Given the description of an element on the screen output the (x, y) to click on. 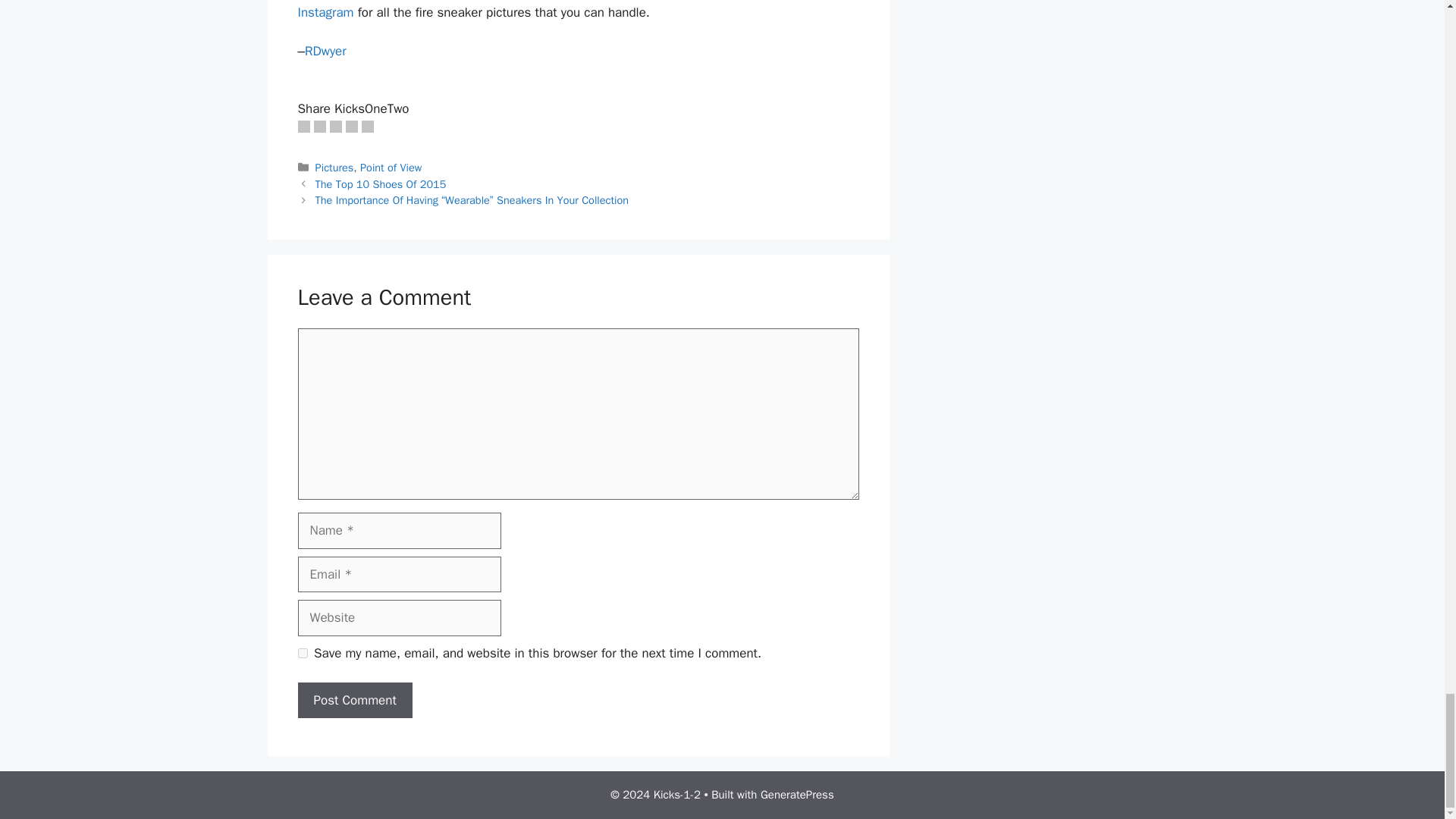
Instagram (325, 12)
yes (302, 653)
Share on Twitter (320, 126)
Post Comment (354, 700)
Pin it with Pinterest (334, 126)
The Top 10 Shoes Of 2015 (380, 183)
Share on Facebook (302, 126)
RDwyer (325, 50)
Pictures (334, 167)
